Given the description of an element on the screen output the (x, y) to click on. 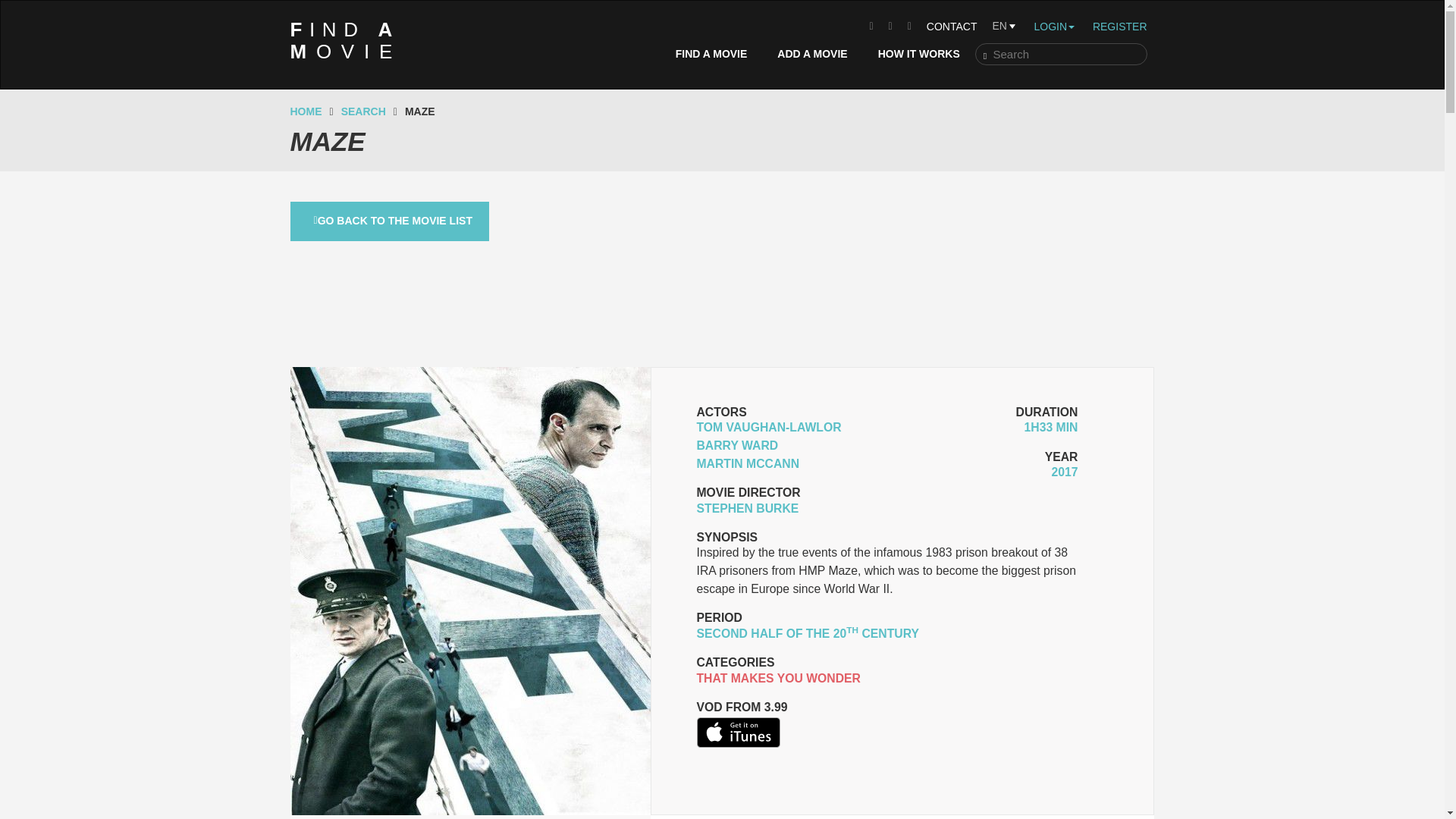
CONTACT (951, 26)
Page facebook (870, 25)
GO BACK TO THE MOVIE LIST (389, 220)
Page Twitter (889, 25)
THAT MAKES YOU WONDER (777, 677)
FIND A MOVIE (346, 40)
SEARCH (711, 53)
ADD A MOVIE (362, 111)
LOGIN (811, 53)
